Given the description of an element on the screen output the (x, y) to click on. 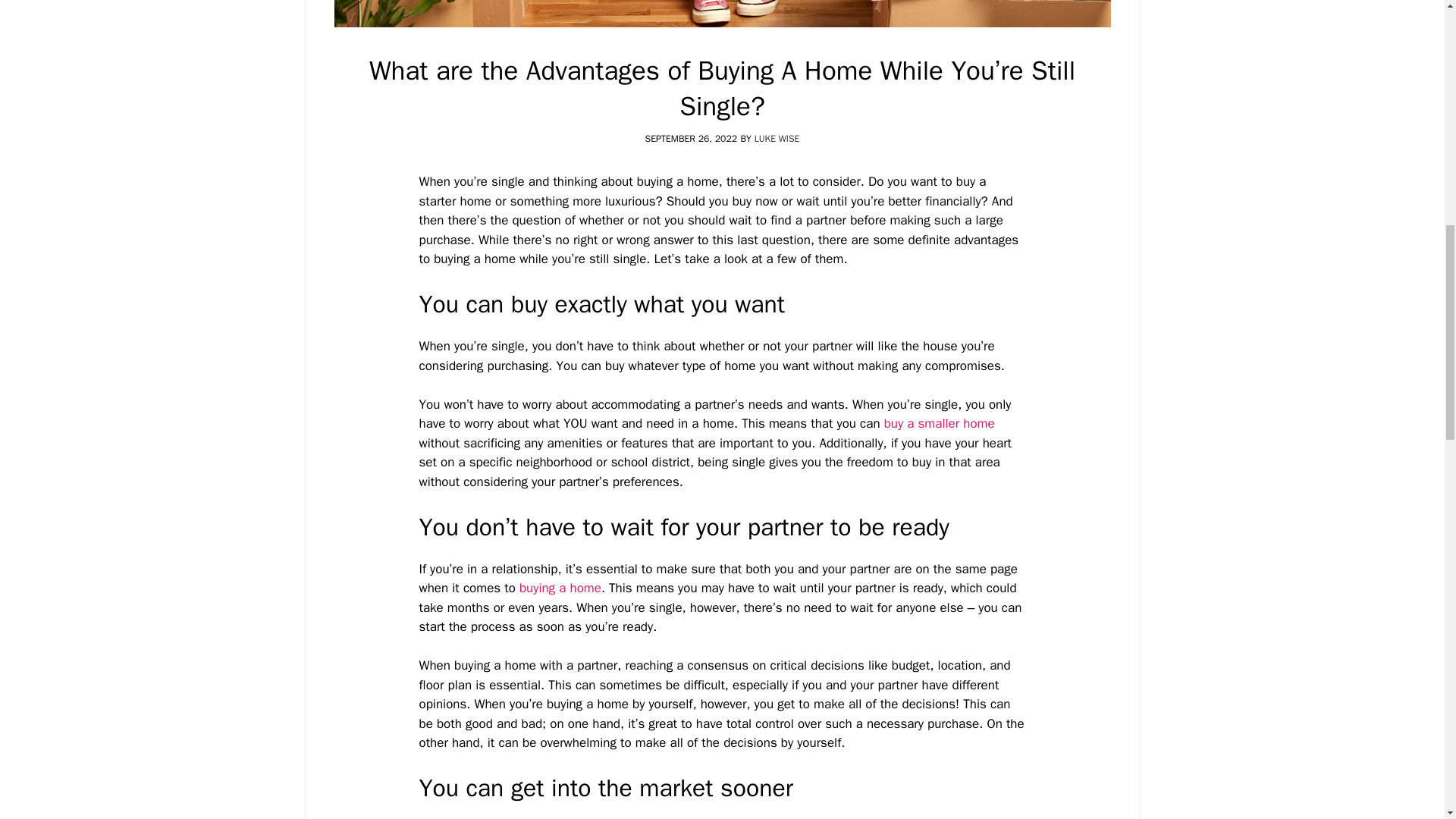
View all posts by Luke Wise (776, 138)
buying a home (560, 587)
buy a smaller home (938, 423)
LUKE WISE (776, 138)
Scroll back to top (1406, 719)
